Given the description of an element on the screen output the (x, y) to click on. 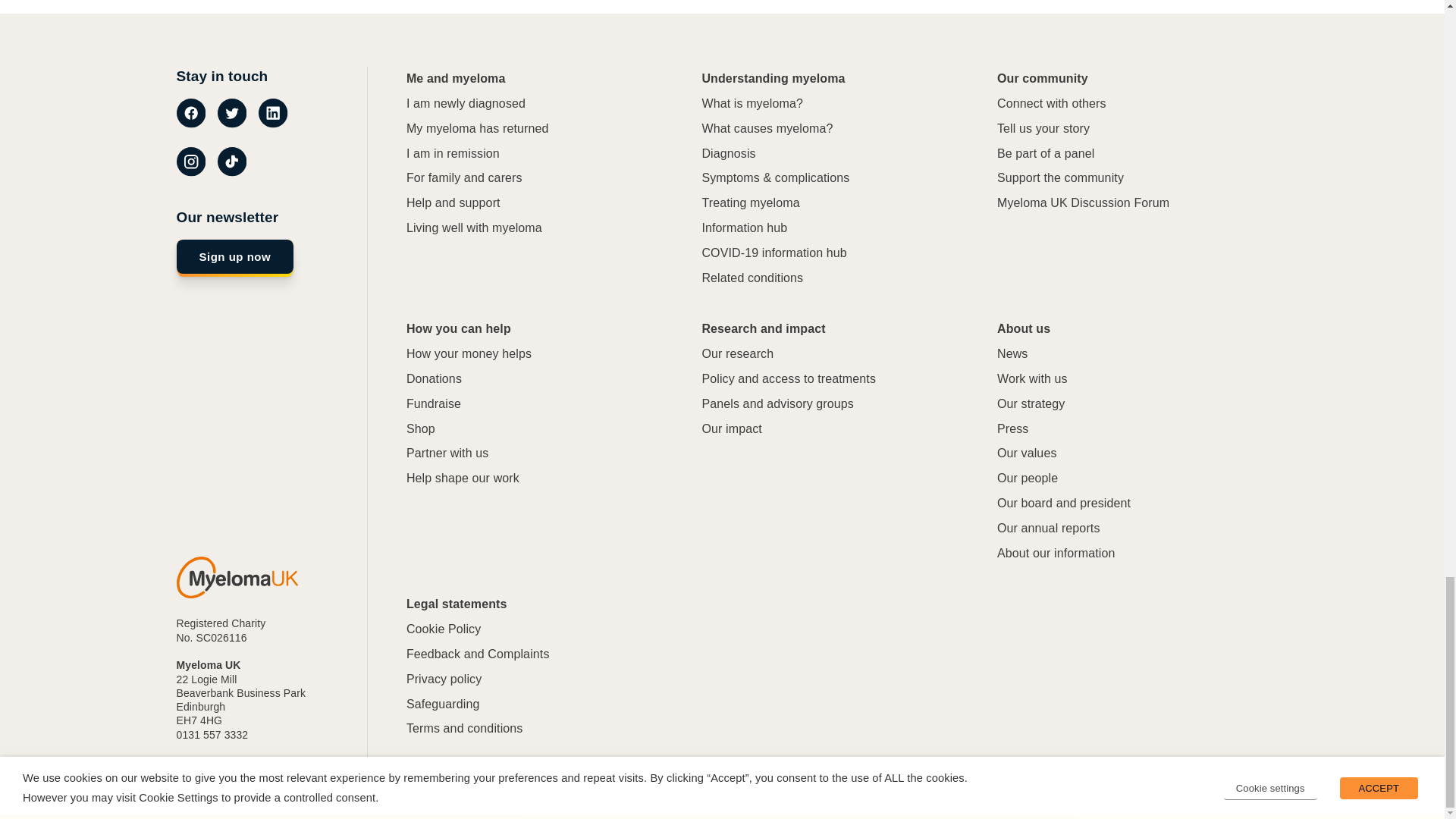
Understanding myeloma (772, 78)
Diagnosis (728, 154)
Me and myeloma (455, 78)
For family and carers (464, 178)
Help and support (453, 203)
My myeloma has returned (477, 129)
What causes myeloma? (766, 129)
I am in remission (452, 154)
I am newly diagnosed (465, 104)
Sign up now (235, 257)
